Given the description of an element on the screen output the (x, y) to click on. 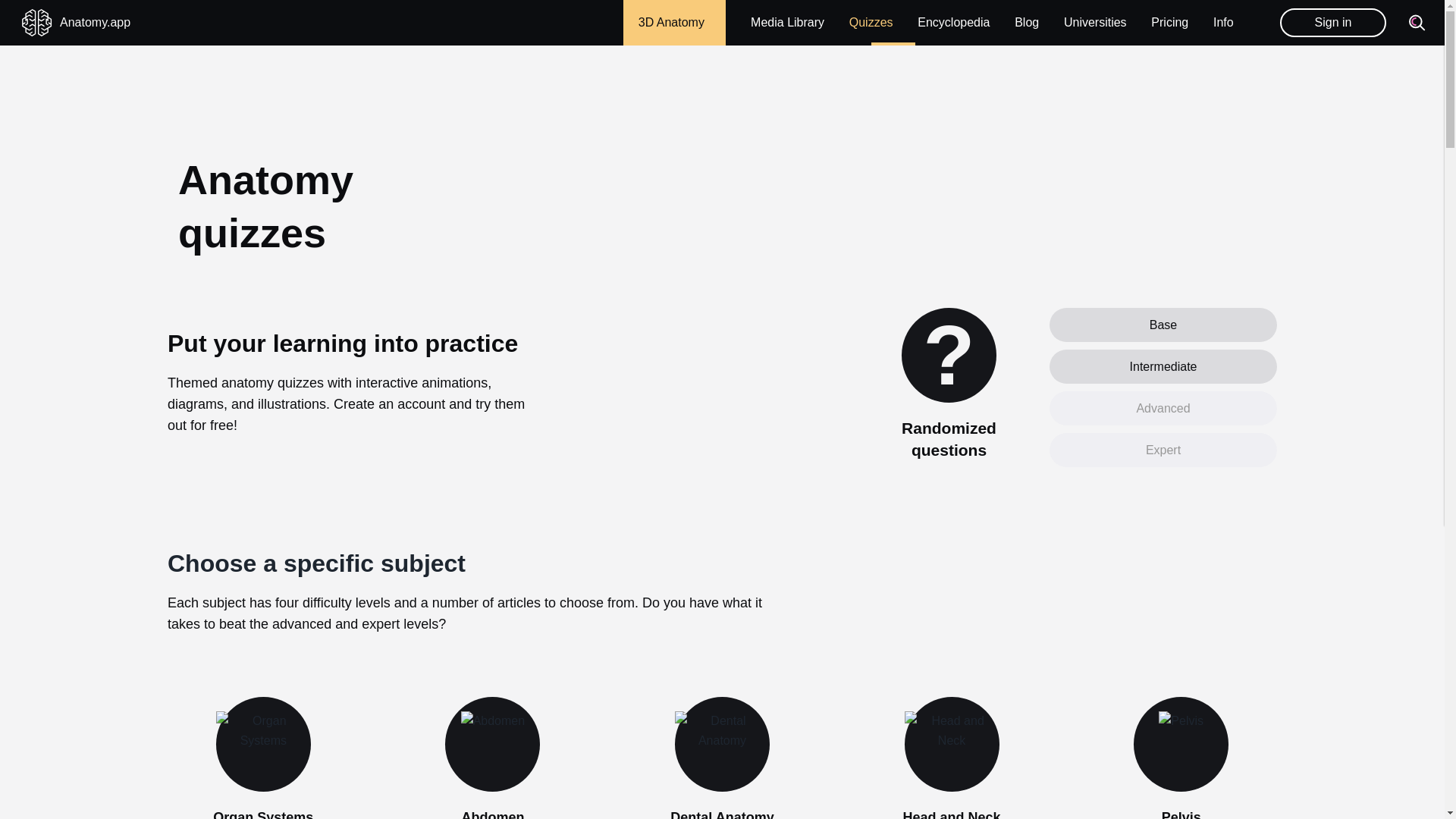
Encyclopedia (953, 22)
Media Library (787, 22)
Anatomy.app (76, 22)
Pricing (1169, 21)
3D Anatomy (674, 22)
Quizzes (870, 22)
Sign in (1332, 22)
Blog (1026, 21)
Universities (1095, 21)
